Given the description of an element on the screen output the (x, y) to click on. 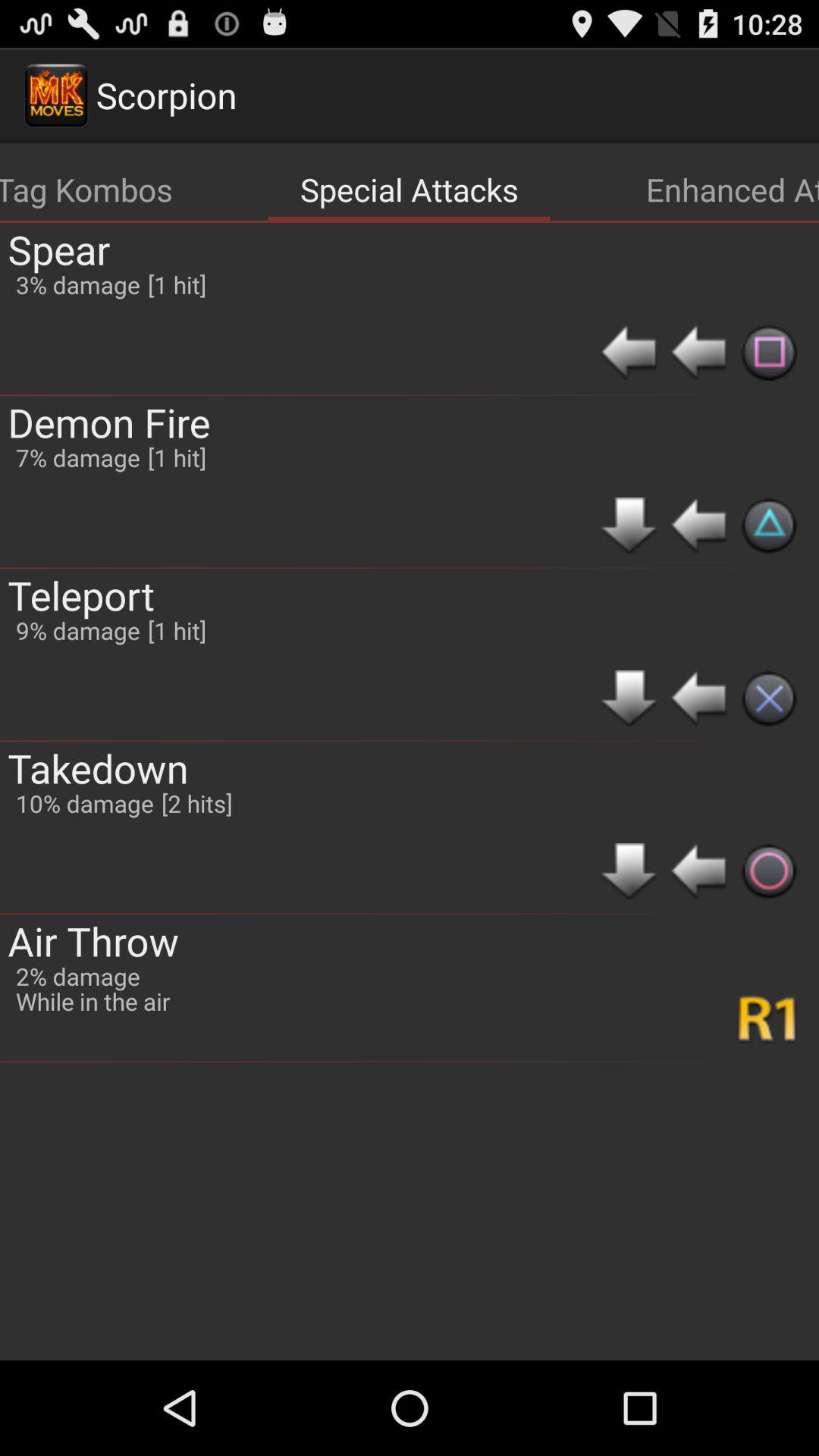
flip until the while in the item (92, 1001)
